Given the description of an element on the screen output the (x, y) to click on. 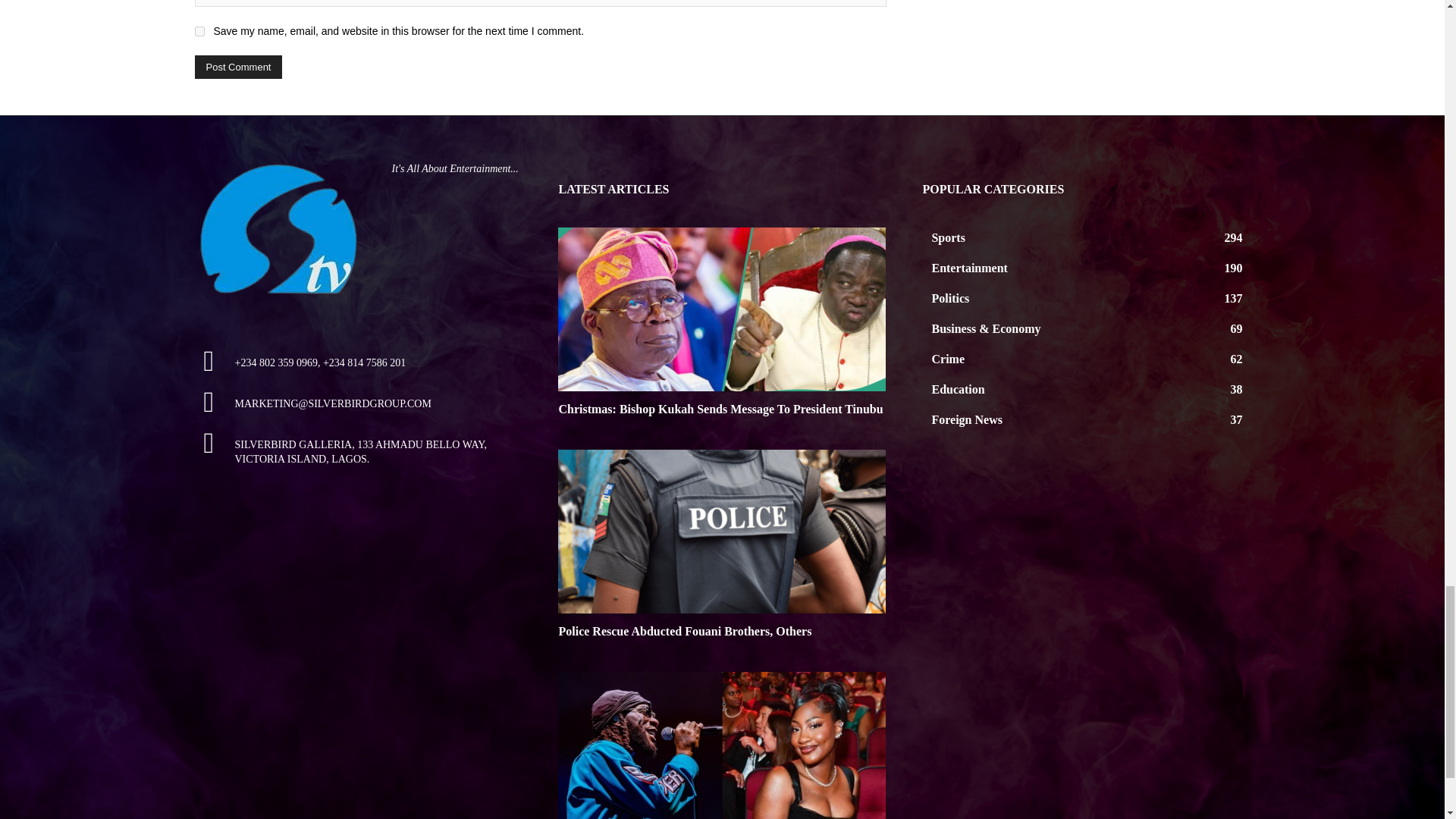
Post Comment (237, 66)
yes (198, 31)
